Given the description of an element on the screen output the (x, y) to click on. 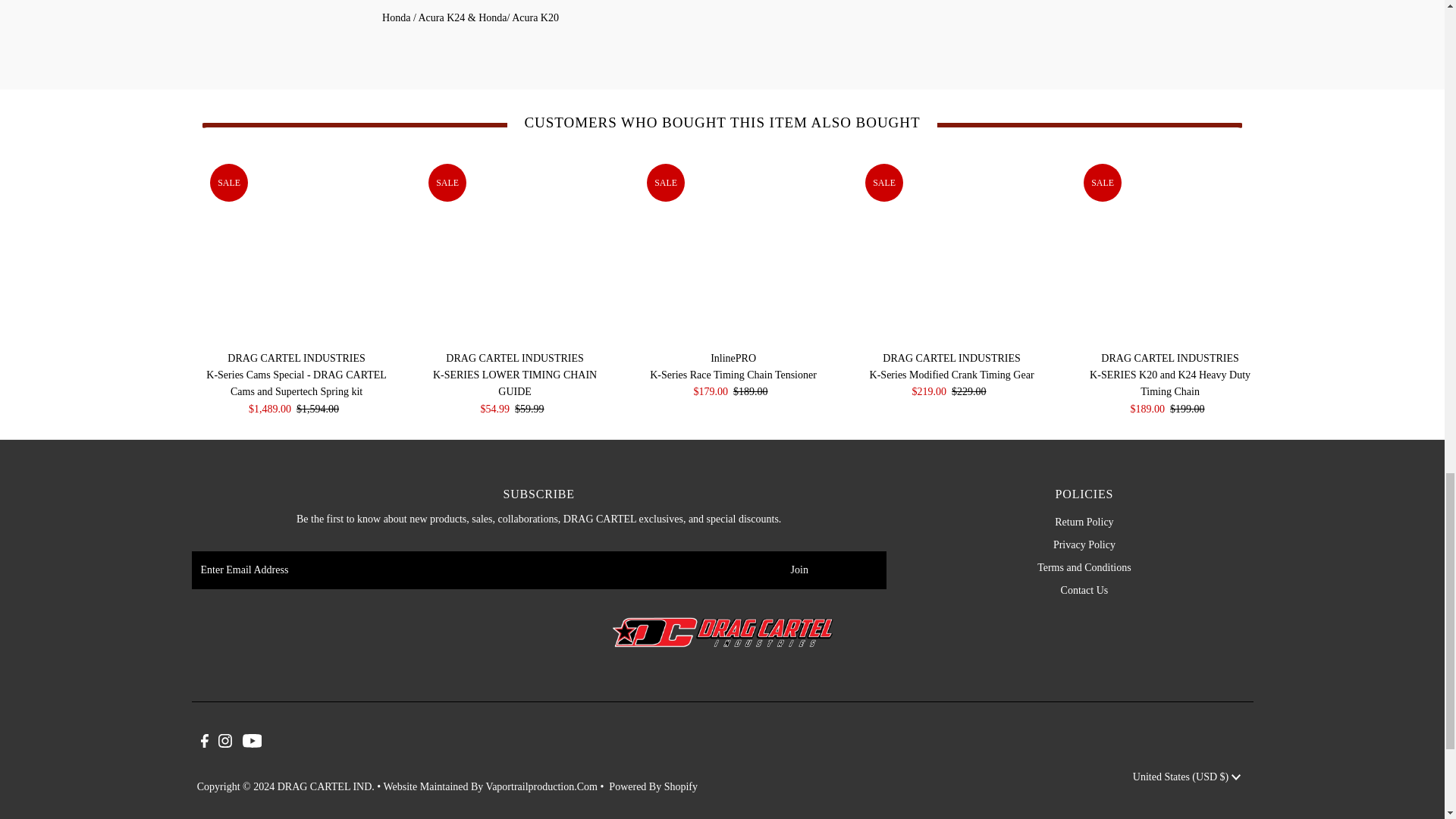
Join (799, 569)
